Given the description of an element on the screen output the (x, y) to click on. 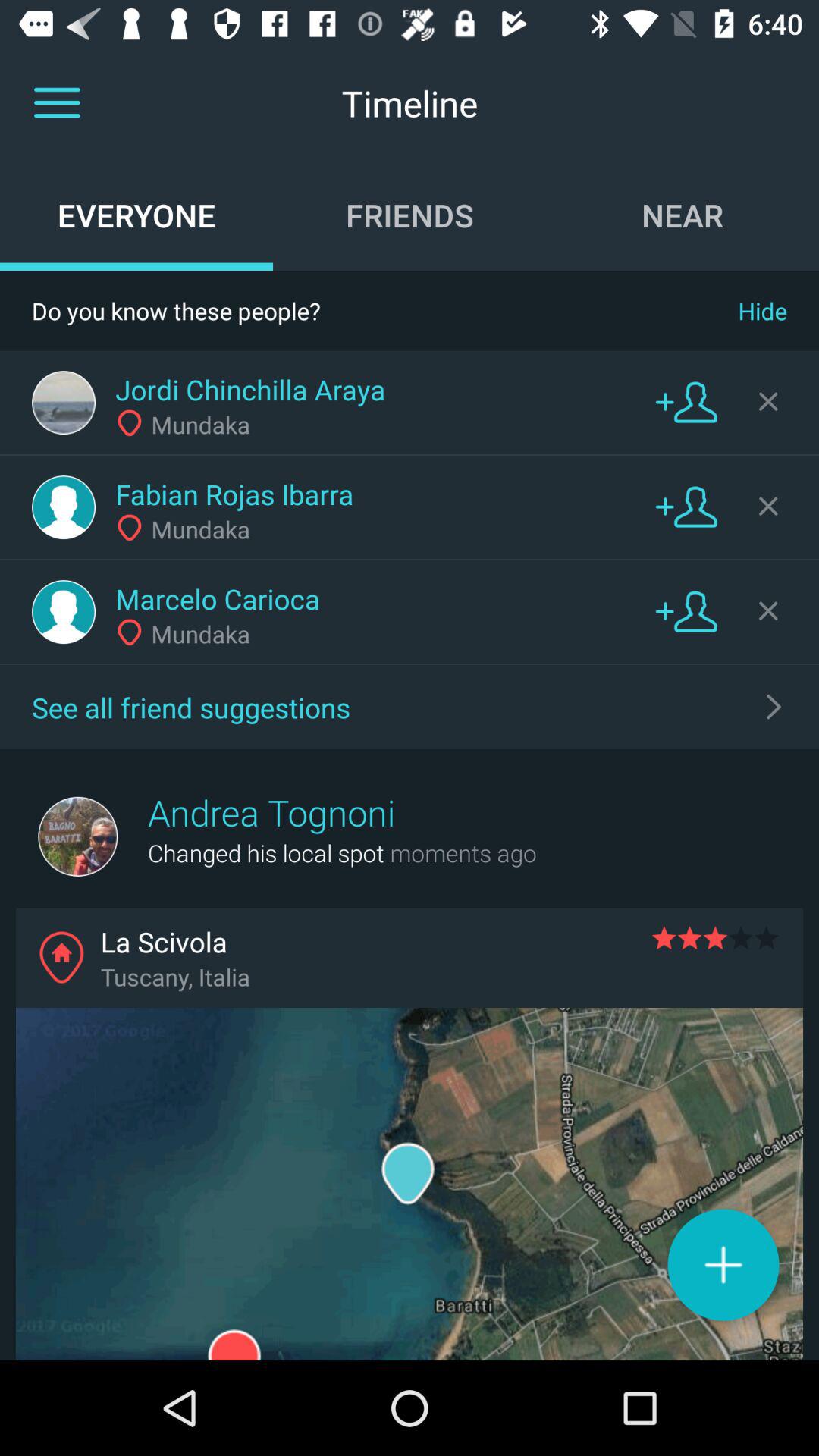
user profile image (63, 507)
